Given the description of an element on the screen output the (x, y) to click on. 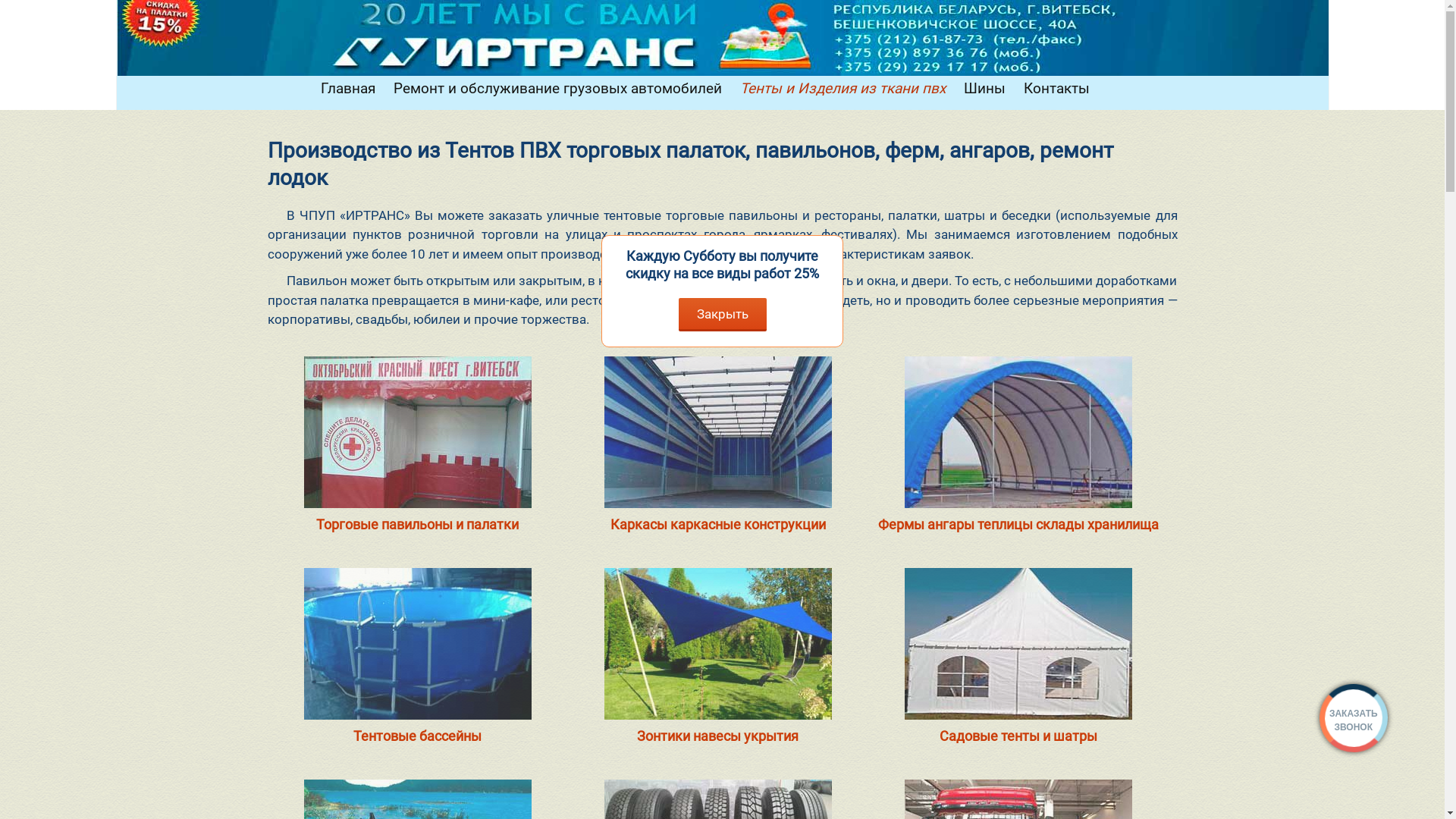
Skip to content Element type: text (355, 85)
